Given the description of an element on the screen output the (x, y) to click on. 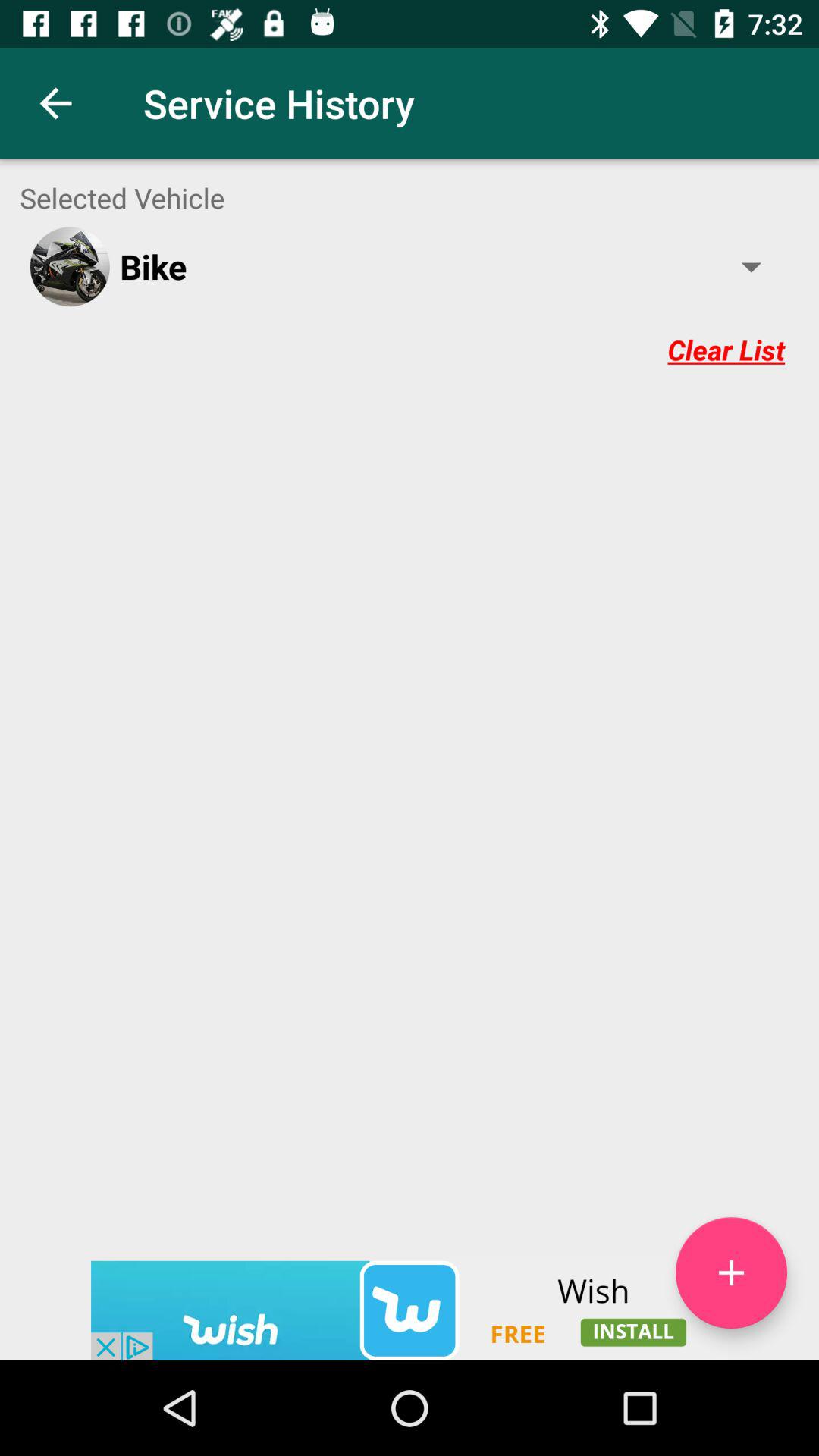
see advertisement (409, 1310)
